Given the description of an element on the screen output the (x, y) to click on. 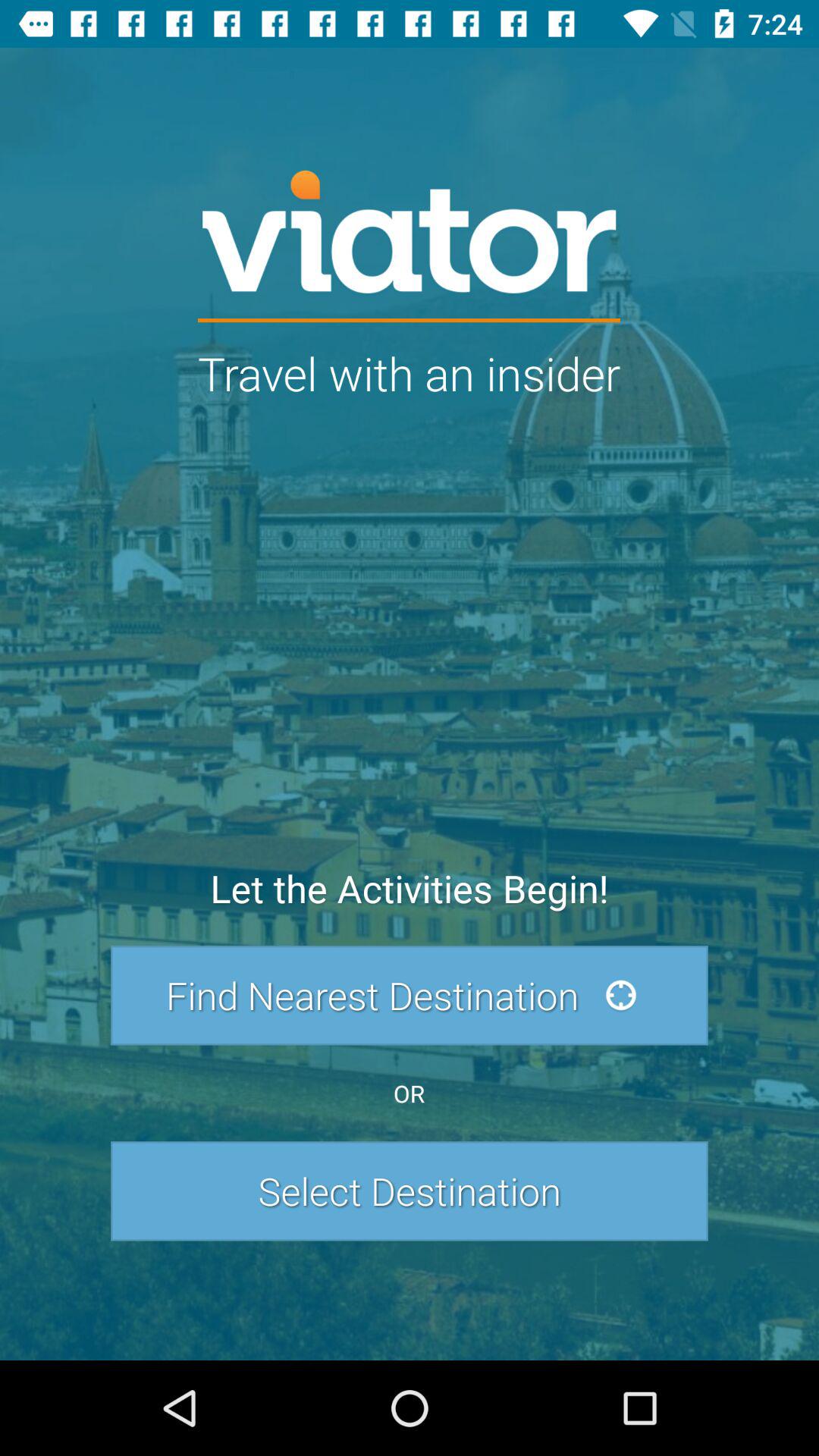
select select destination item (409, 1191)
